Given the description of an element on the screen output the (x, y) to click on. 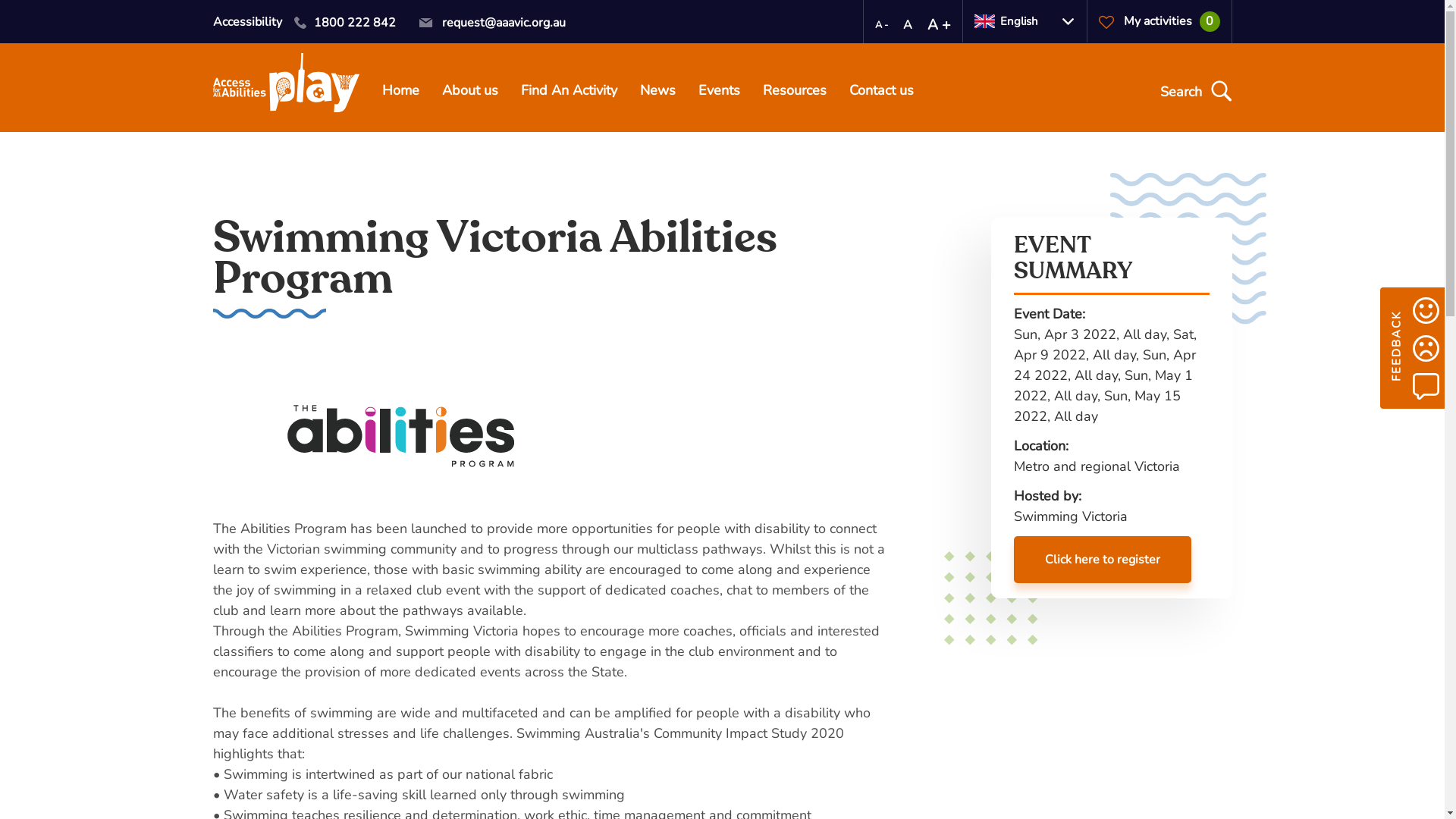
Resources Element type: text (794, 91)
News Element type: text (657, 91)
Search Element type: text (26, 11)
About us Element type: text (469, 91)
Search Element type: text (1193, 91)
My activities0 Element type: text (1159, 21)
Give Compliment Element type: text (1425, 310)
1800 222 842 Element type: text (343, 22)
Make Suggestion Element type: text (1425, 385)
request@aaavic.org.au Element type: text (491, 22)
Contact us Element type: text (881, 91)
Accessibility Element type: text (246, 21)
Events Element type: text (718, 91)
Click here to register Element type: text (1101, 559)
Find An Activity Element type: text (568, 91)
English Element type: text (1023, 21)
Home Element type: text (400, 91)
Give Complaint Element type: text (1425, 348)
Skip to main content Element type: text (0, 0)
